Given the description of an element on the screen output the (x, y) to click on. 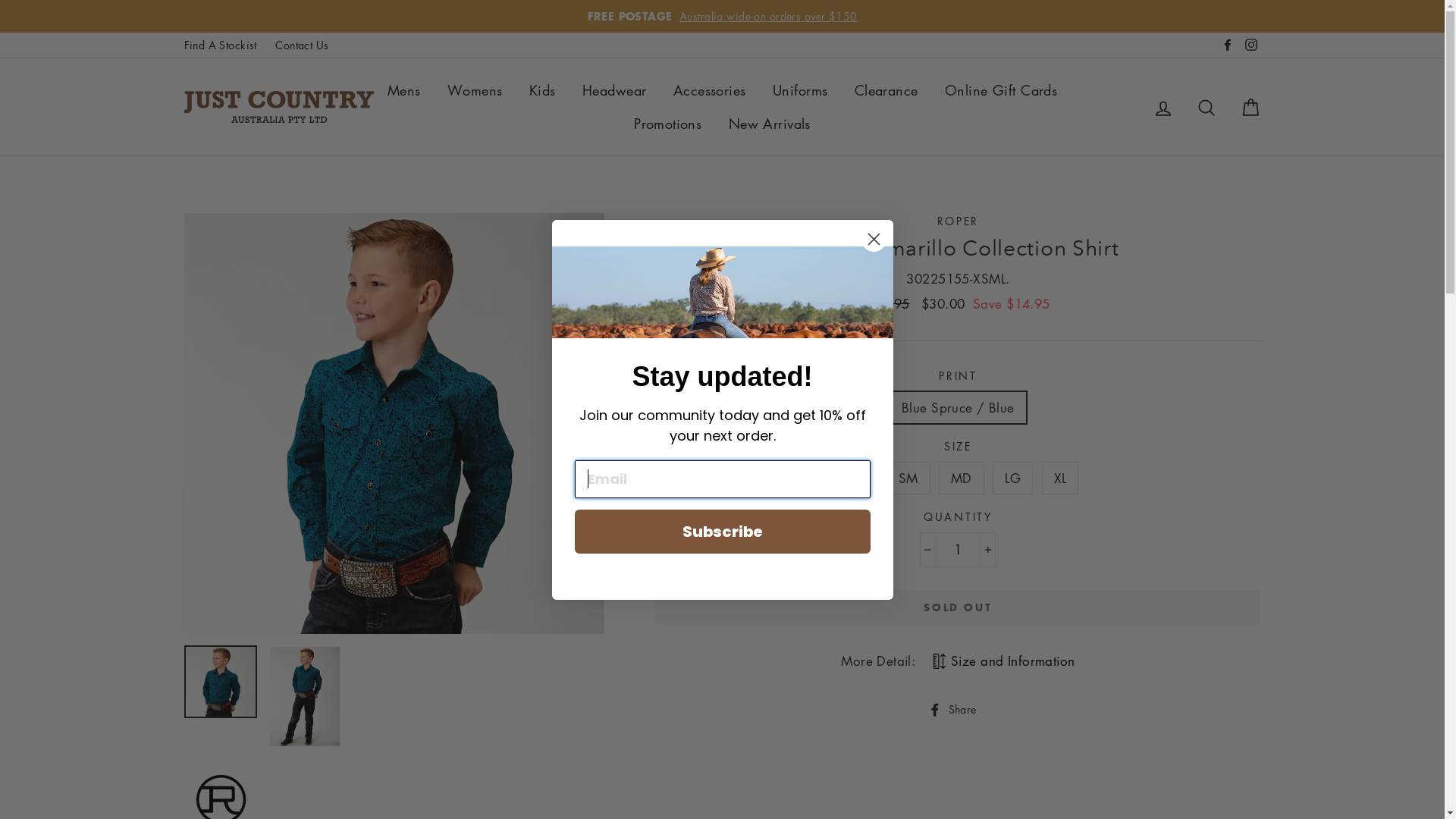
Online Gift Cards Element type: text (1000, 89)
Mens Element type: text (404, 89)
Subscribe Element type: text (722, 531)
Kids Element type: text (542, 89)
Cart Element type: text (1249, 106)
Accessories Element type: text (709, 89)
Find A Stockist Element type: text (219, 44)
Search Element type: text (1206, 106)
Share
Share on Facebook Element type: text (958, 707)
SOLD OUT Element type: text (957, 606)
Instagram Element type: text (1250, 44)
+ Element type: text (987, 549)
Skip to content Element type: text (0, 0)
Clearance Element type: text (886, 89)
Contact Us Element type: text (301, 44)
FREE POSTAGE Australia wide on orders over $150 Element type: text (722, 16)
Promotions Element type: text (667, 123)
Headwear Element type: text (614, 89)
Submit Element type: text (28, 17)
Womens Element type: text (475, 89)
Uniforms Element type: text (799, 89)
Facebook Element type: text (1227, 44)
New Arrivals Element type: text (769, 123)
Log in Element type: text (1163, 106)
